Given the description of an element on the screen output the (x, y) to click on. 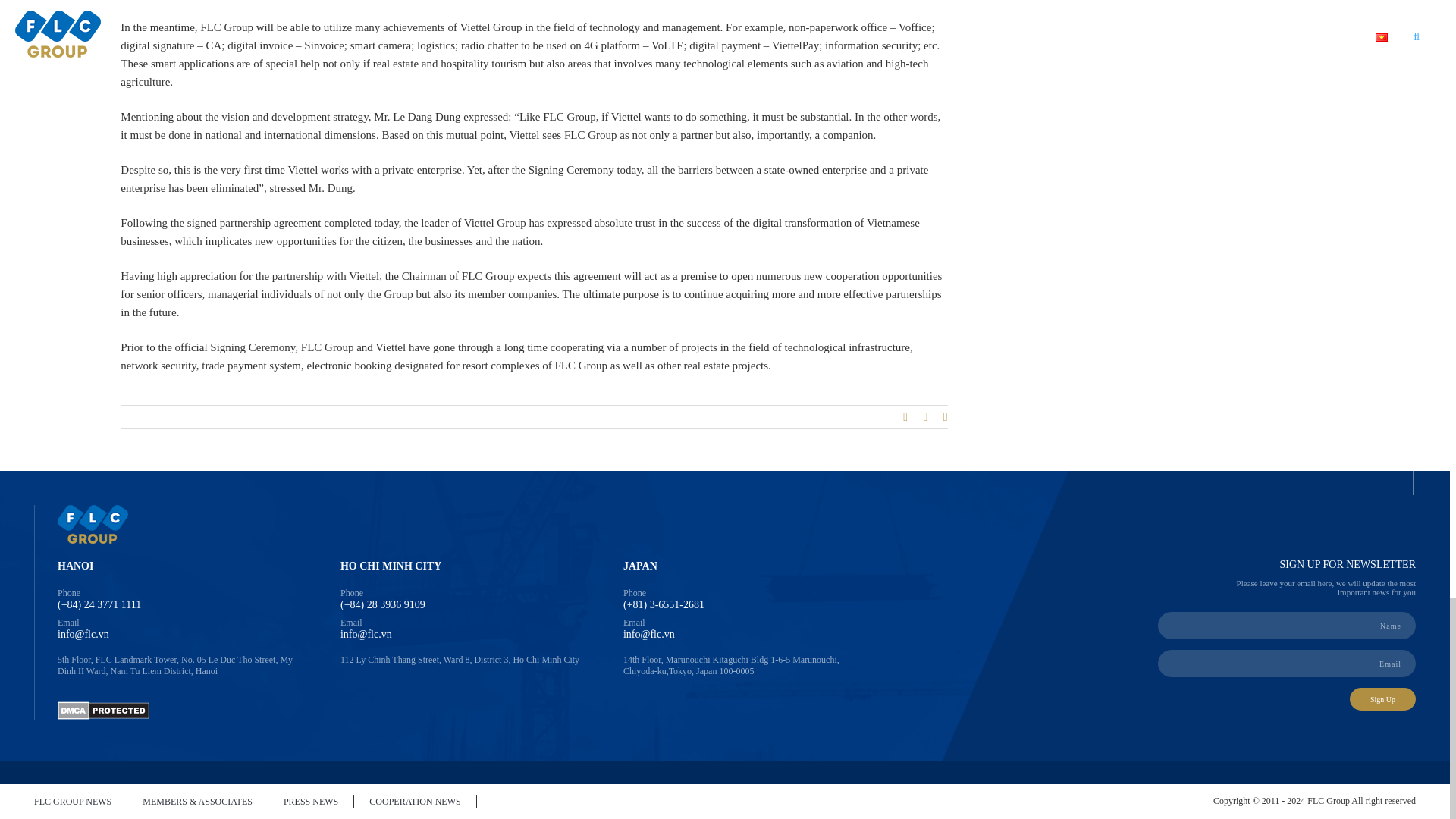
DMCA.com Protection Status (103, 708)
